Given the description of an element on the screen output the (x, y) to click on. 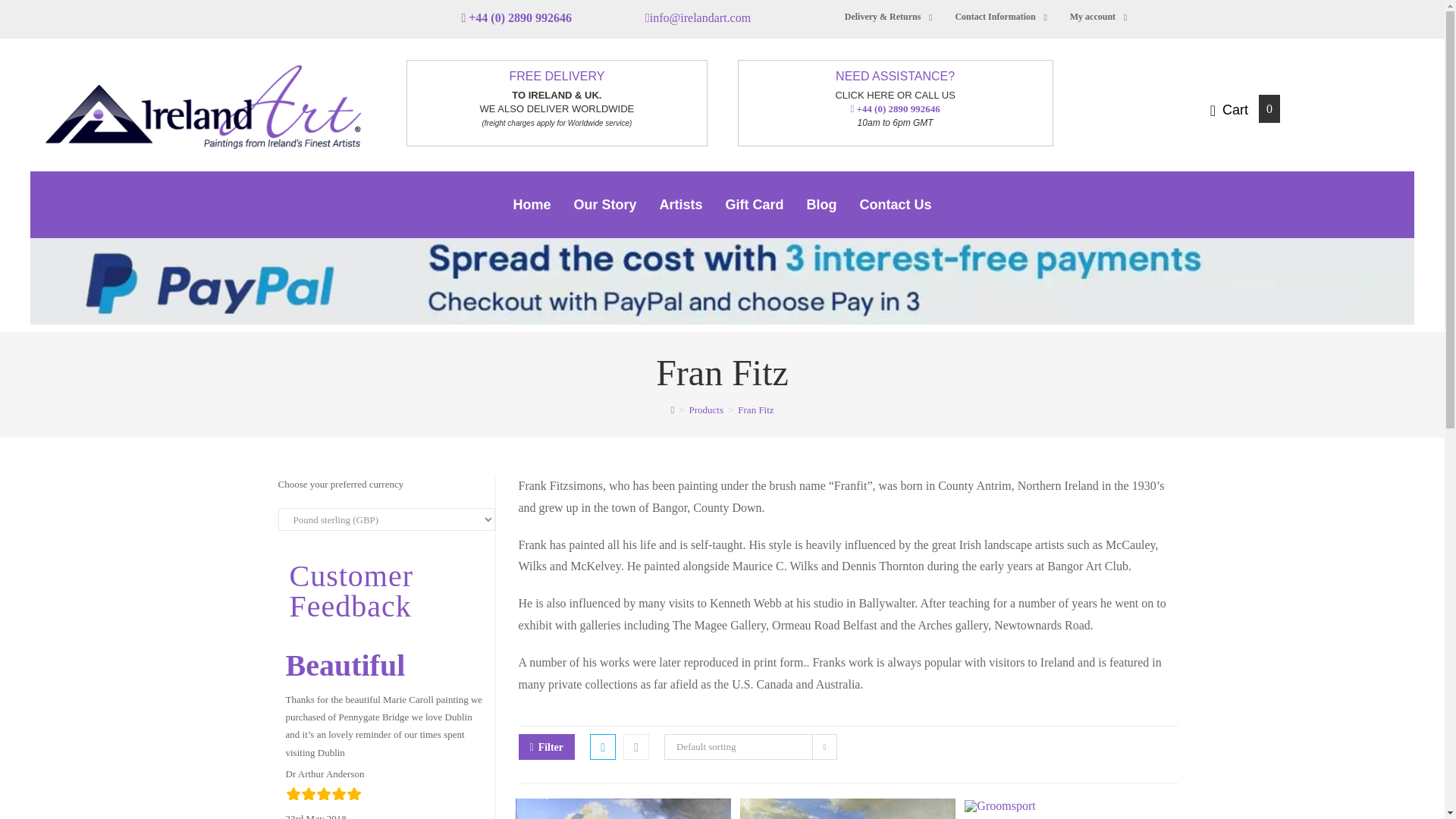
List view (636, 746)
View your shopping cart (1230, 108)
Currency (386, 518)
Grid view (602, 746)
Artists (680, 204)
My account (1094, 17)
logo (203, 106)
Home (531, 204)
Contact Information (996, 17)
Our Story (604, 204)
Cart (1230, 108)
